Given the description of an element on the screen output the (x, y) to click on. 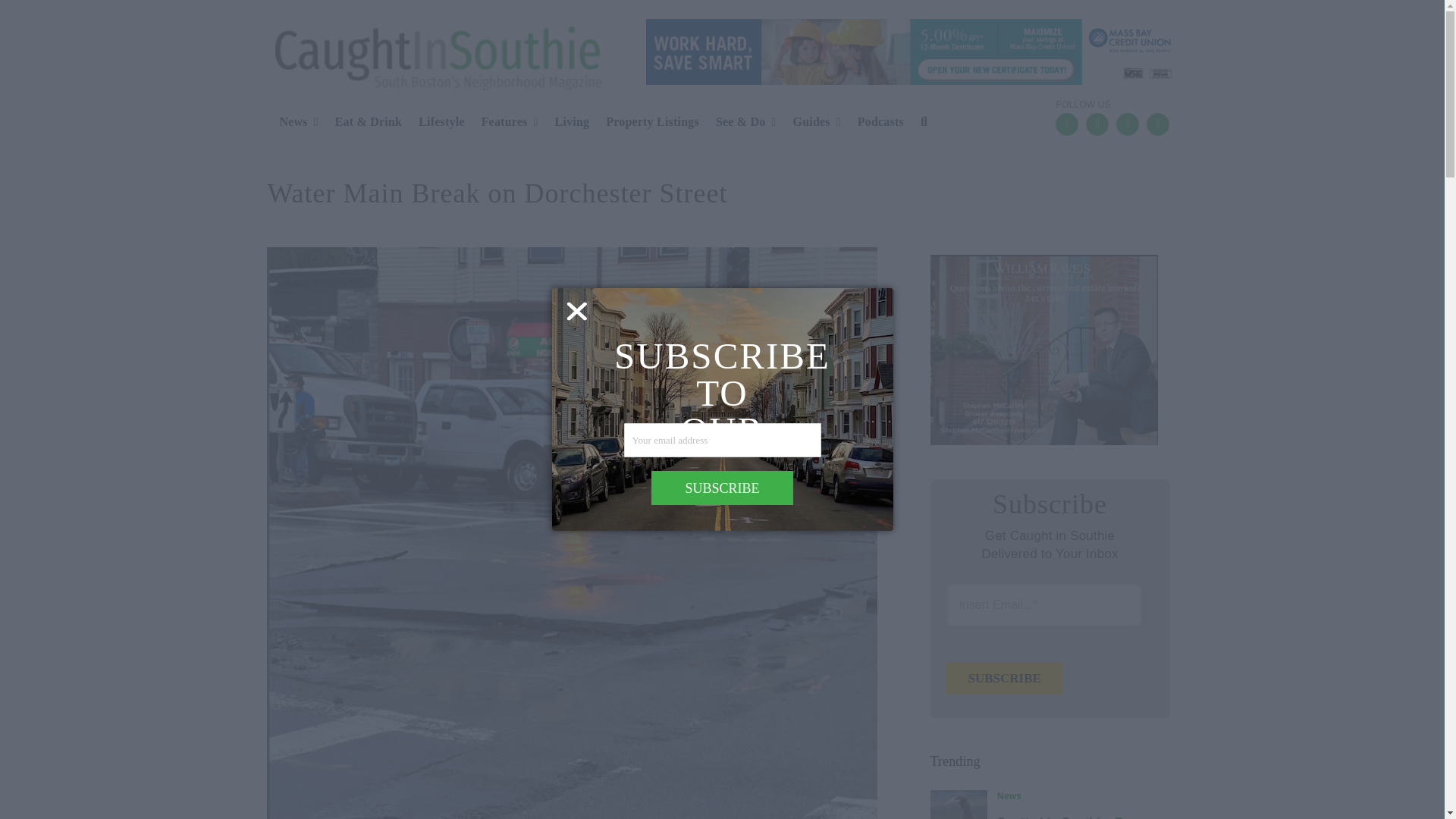
Living (566, 122)
Podcasts (874, 122)
Property Listings (646, 122)
News (291, 122)
Lifestyle (435, 122)
Guides (810, 122)
Features (503, 122)
Subscribe (1004, 677)
